Given the description of an element on the screen output the (x, y) to click on. 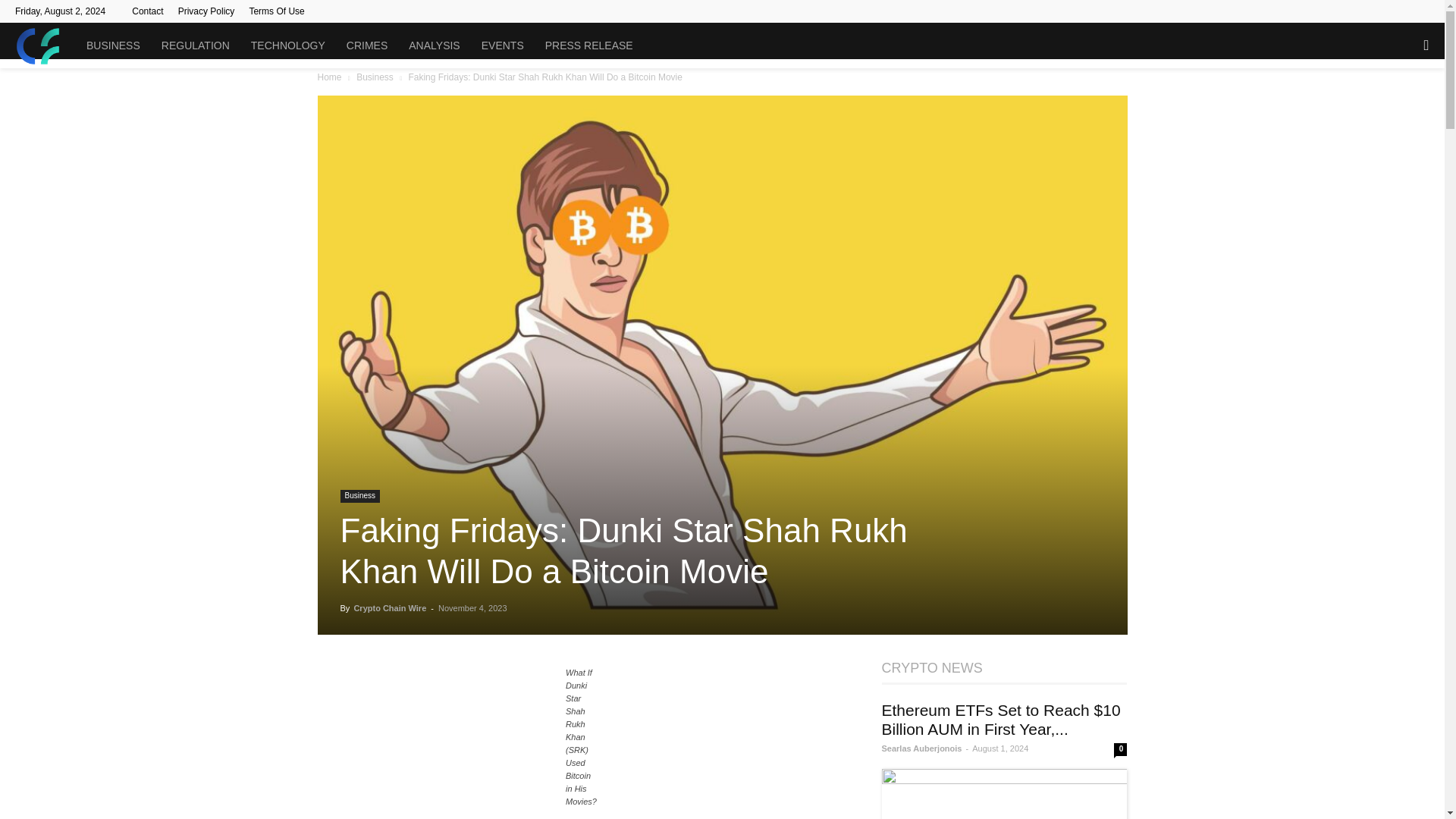
View all posts in Business (374, 77)
Privacy Policy (205, 10)
Business (359, 495)
TECHNOLOGY (288, 44)
ANALYSIS (433, 44)
REGULATION (195, 44)
Home (328, 77)
Terms Of Use (276, 10)
EVENTS (502, 44)
Search (1395, 110)
Business (374, 77)
BUSINESS (113, 44)
TheCryptoFintech (44, 45)
CRIMES (366, 44)
